Given the description of an element on the screen output the (x, y) to click on. 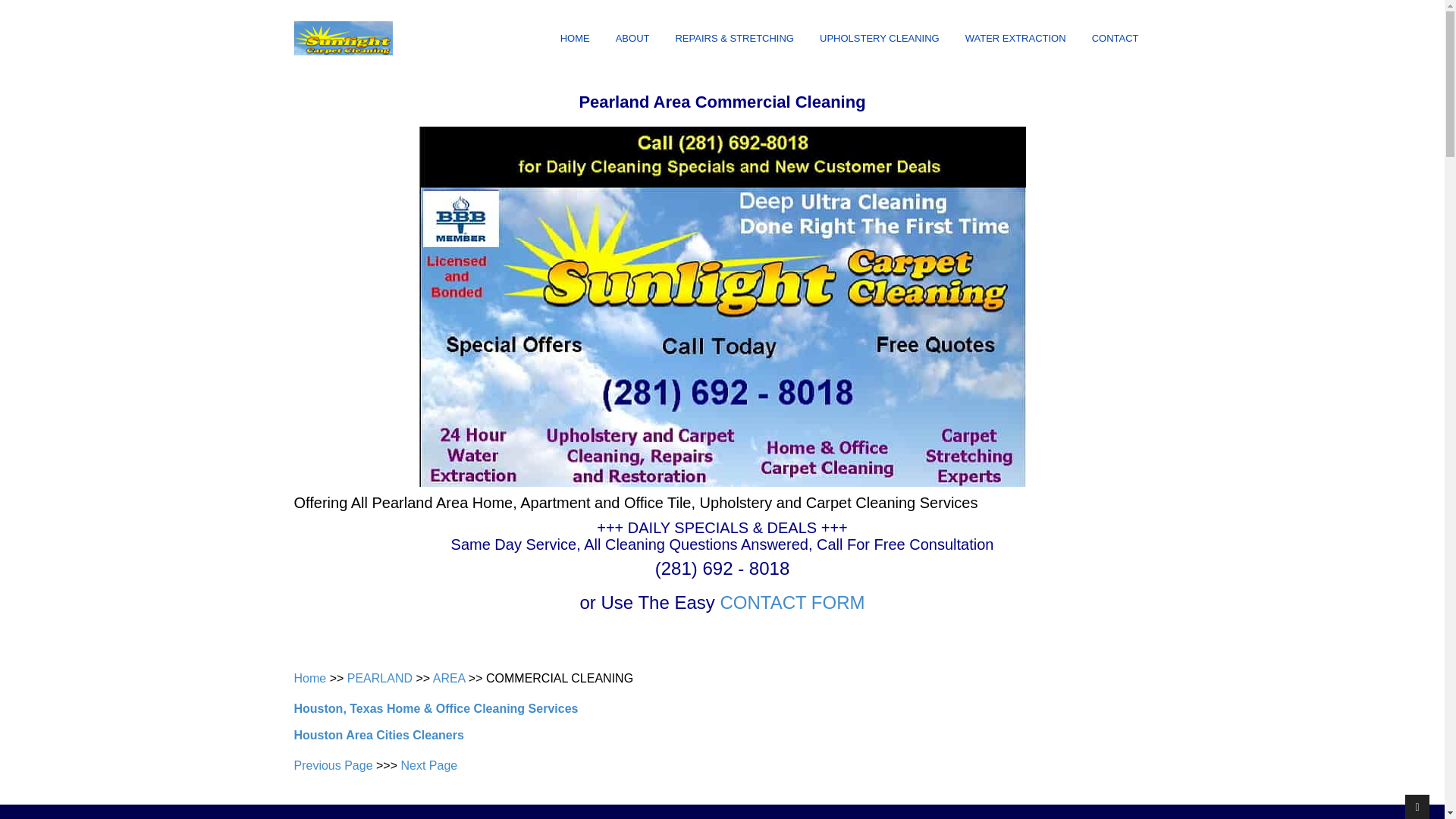
PEARLAND (379, 677)
CONTACT (1115, 38)
Home (310, 677)
UPHOLSTERY CLEANING (880, 38)
Previous Page (333, 765)
ABOUT (633, 38)
Houston Area Cities Cleaners (379, 735)
HOME (575, 38)
Next Page (428, 765)
CONTACT FORM (791, 602)
WATER EXTRACTION (1015, 38)
AREA (448, 677)
